Given the description of an element on the screen output the (x, y) to click on. 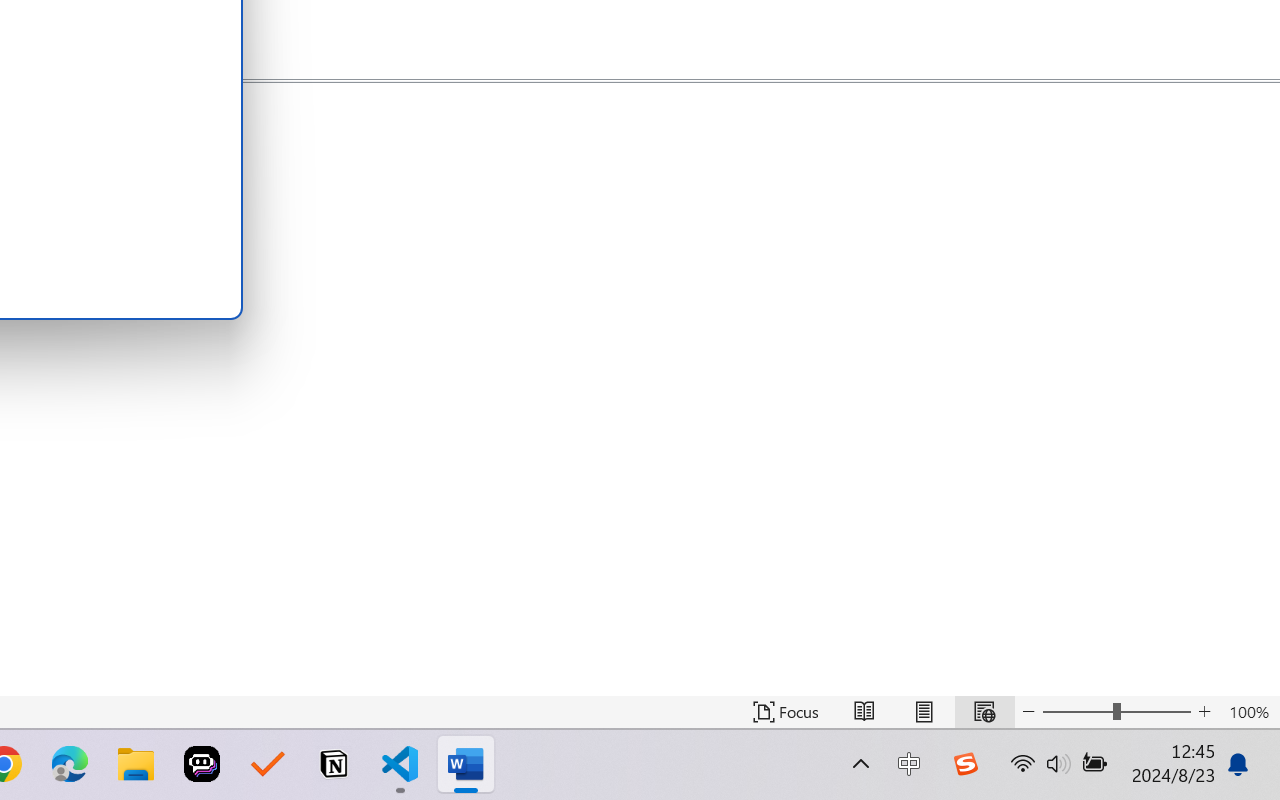
Zoom 100% (1249, 712)
Microsoft Edge (69, 764)
